Given the description of an element on the screen output the (x, y) to click on. 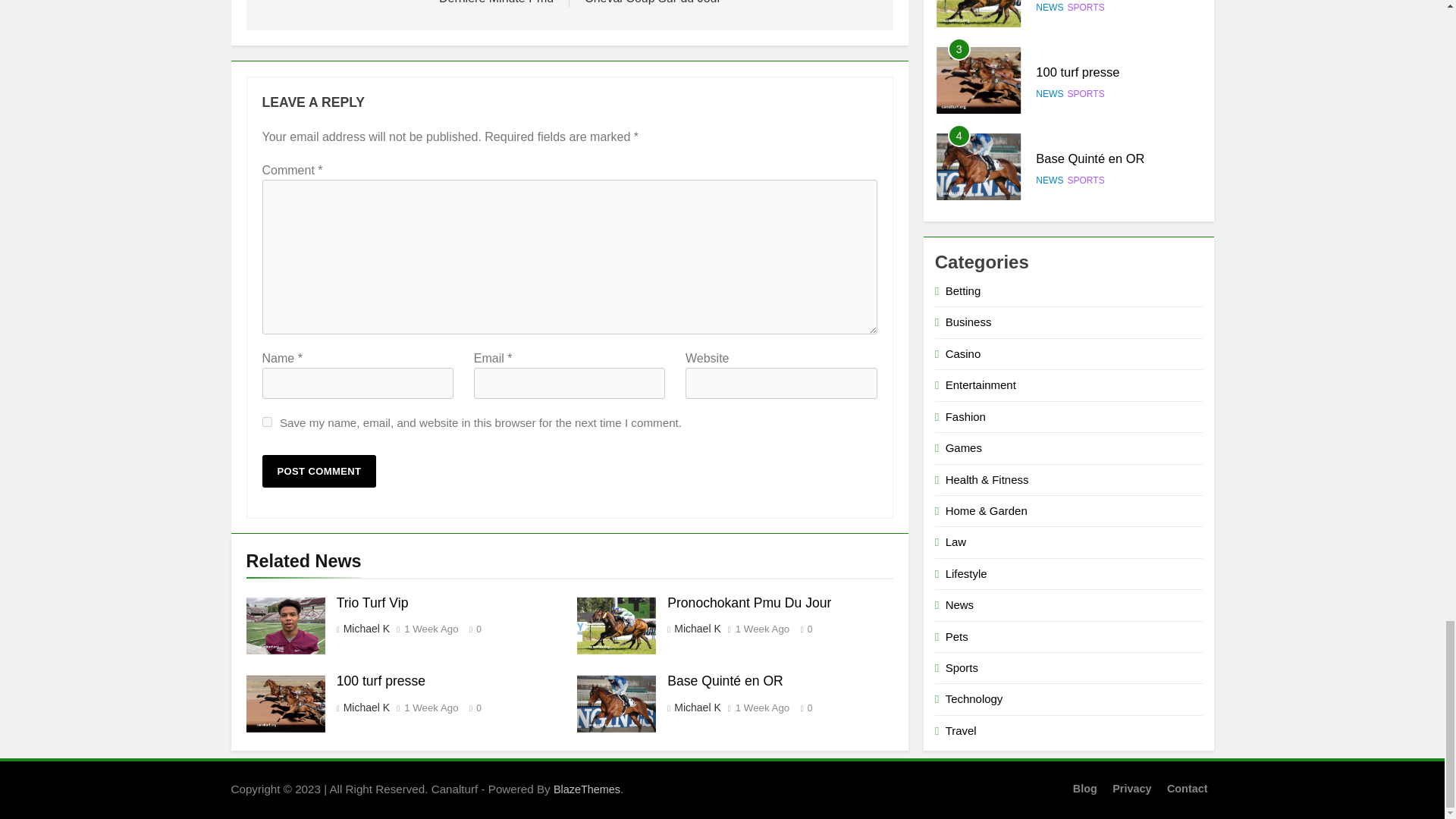
yes (267, 421)
Post Comment (319, 471)
